Given the description of an element on the screen output the (x, y) to click on. 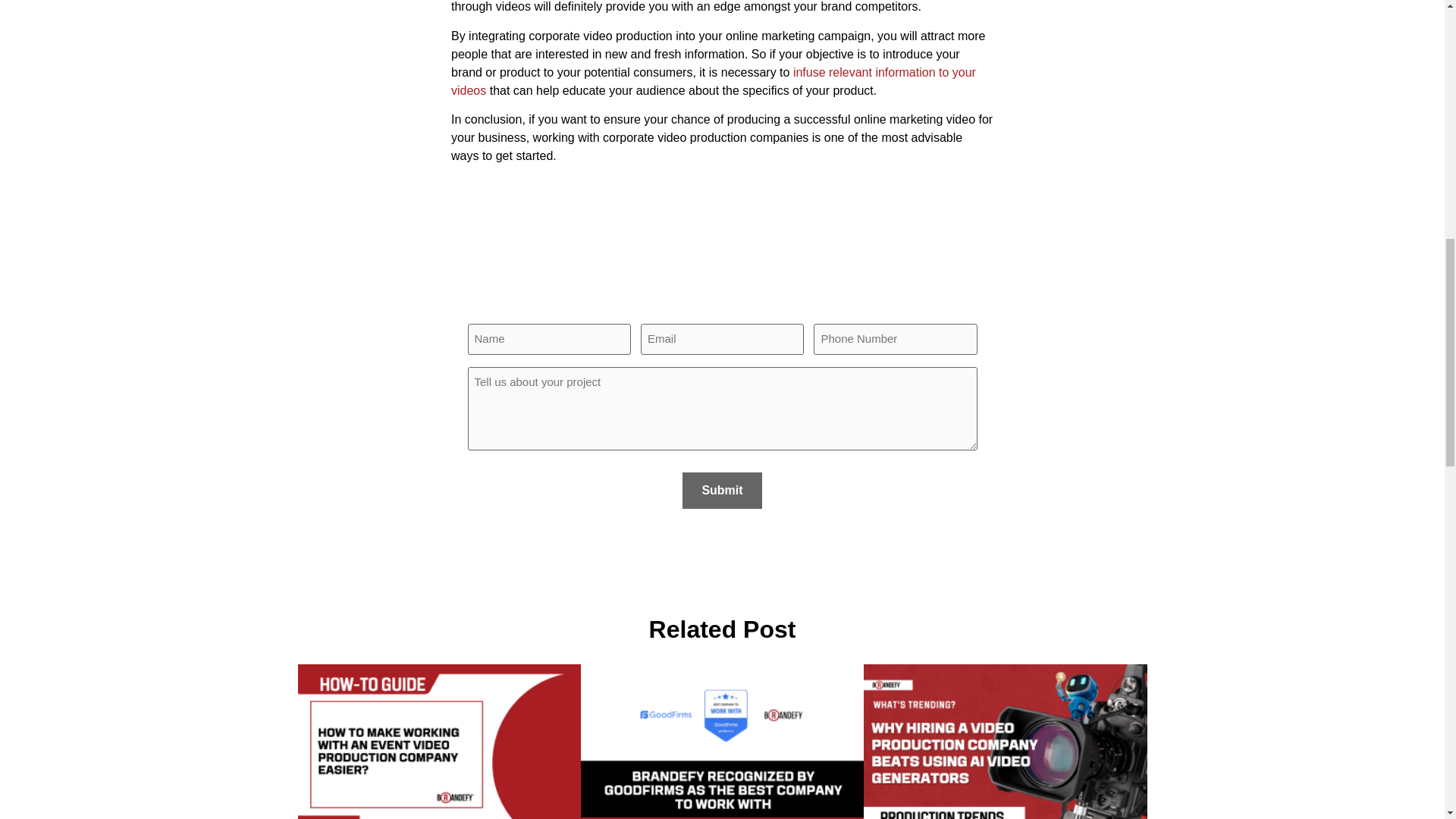
Submit (721, 490)
infuse relevant information to your videos (713, 81)
Submit (721, 490)
